Given the description of an element on the screen output the (x, y) to click on. 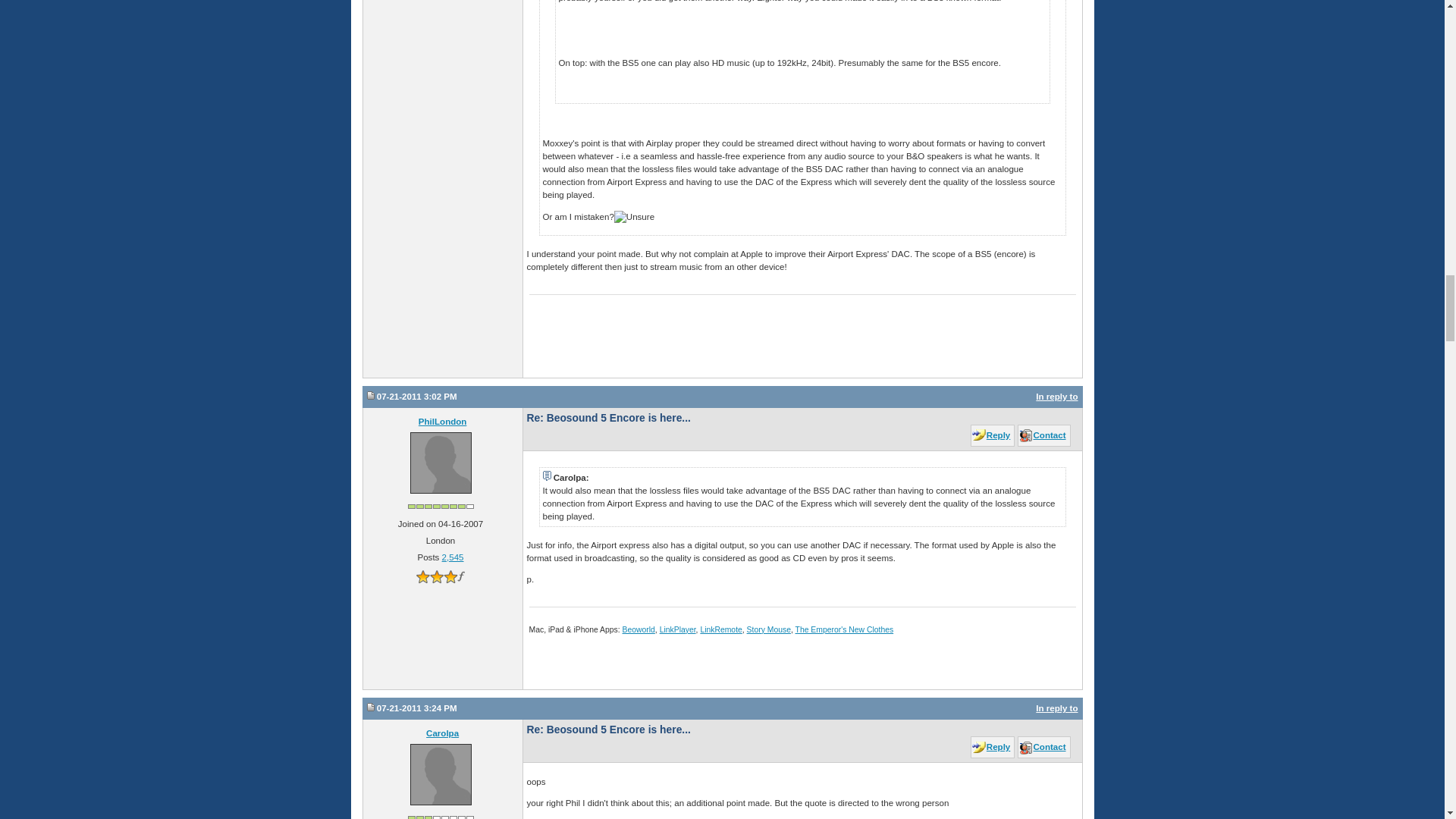
Top 150 Contributor (440, 816)
Top 25 Contributor (440, 506)
